Given the description of an element on the screen output the (x, y) to click on. 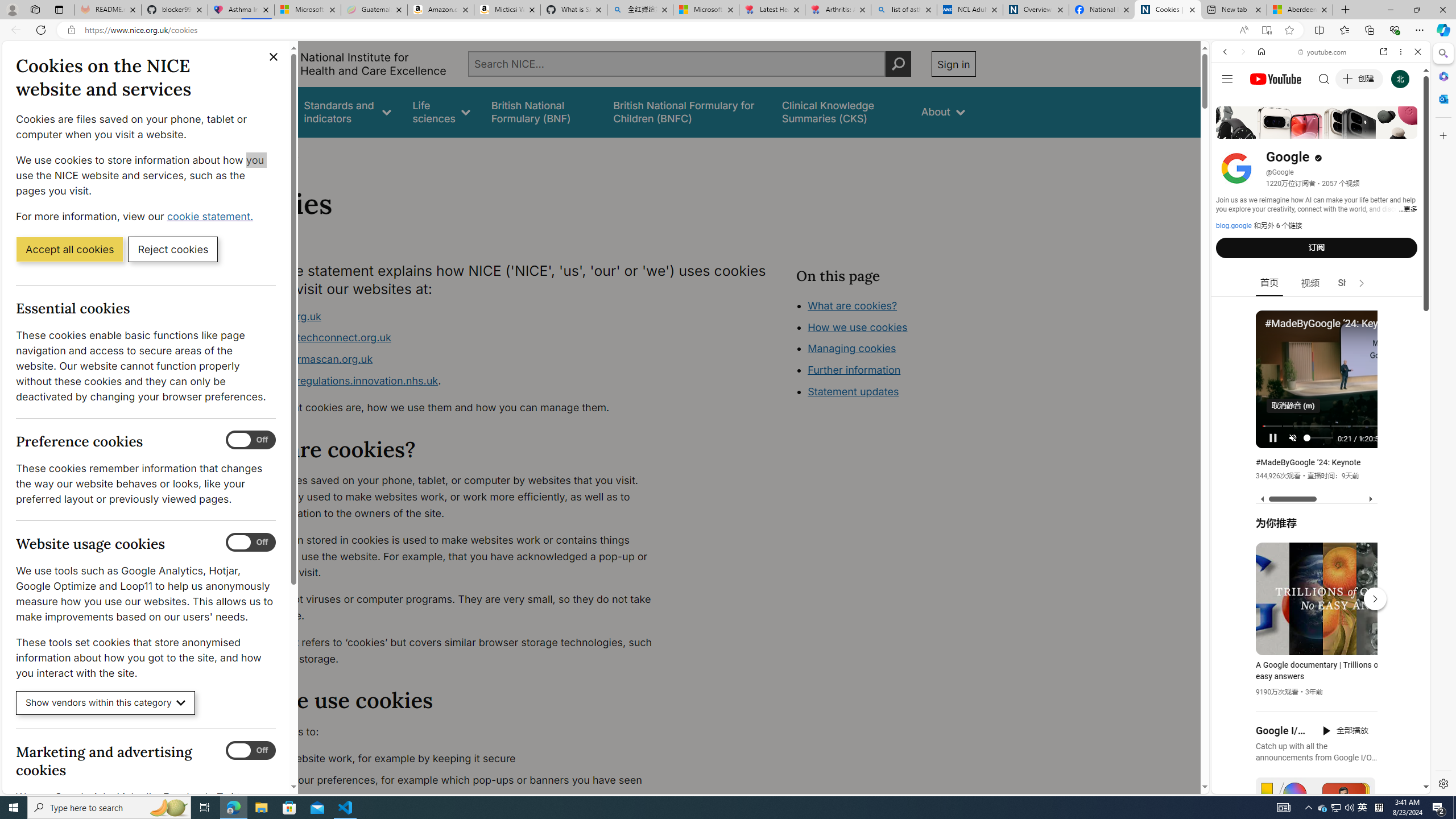
US[ju] (1249, 785)
www.healthtechconnect.org.uk (314, 337)
Close Customize pane (1442, 135)
Asthma Inhalers: Names and Types (240, 9)
Cookies | About | NICE (1167, 9)
make our website work, for example by keeping it secure (452, 759)
Aberdeen, Hong Kong SAR hourly forecast | Microsoft Weather (1300, 9)
YouTube (1315, 655)
Arthritis: Ask Health Professionals (838, 9)
Guidance (260, 111)
Search Filter, IMAGES (1262, 129)
